Given the description of an element on the screen output the (x, y) to click on. 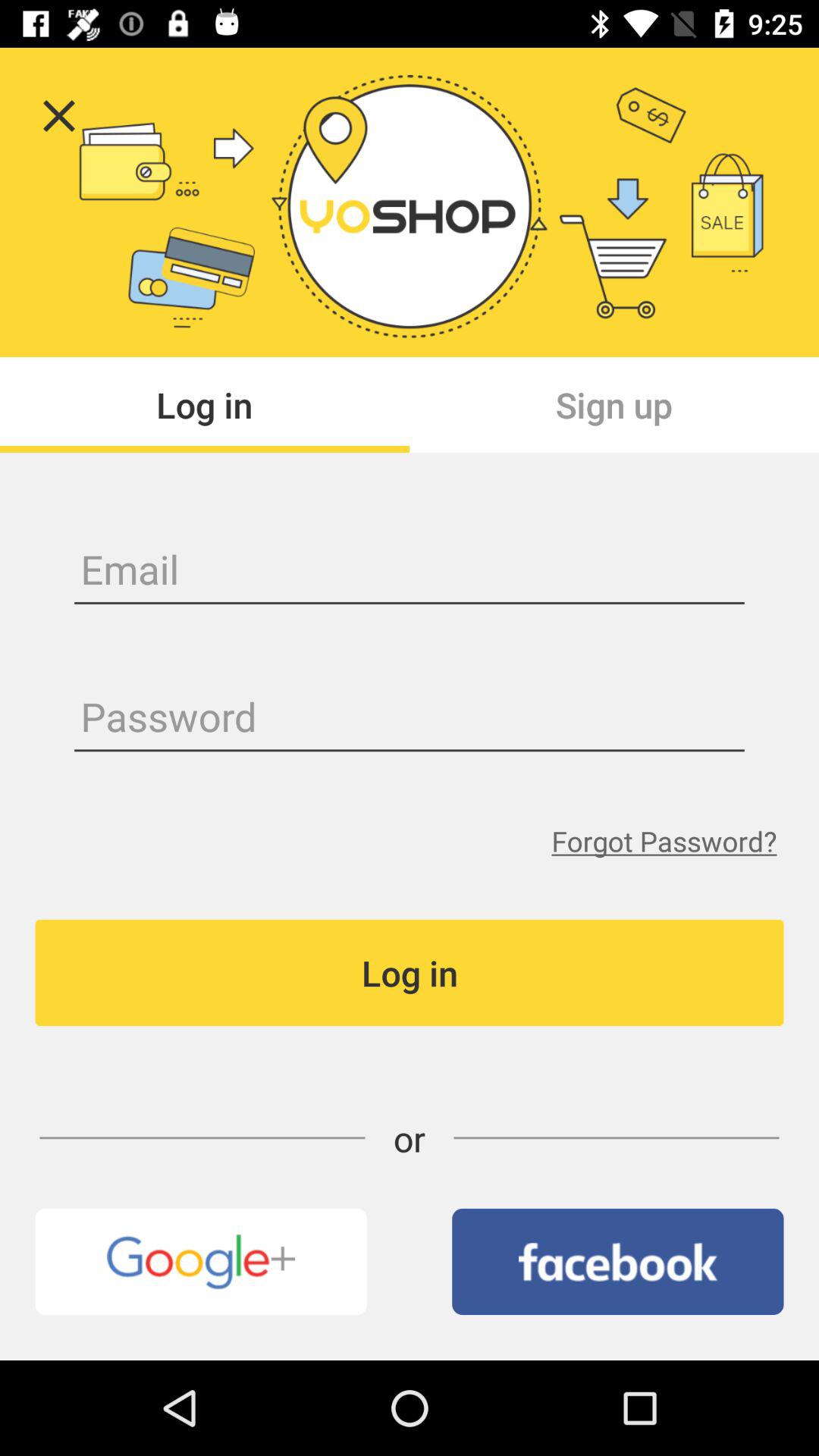
click to close (59, 115)
